Given the description of an element on the screen output the (x, y) to click on. 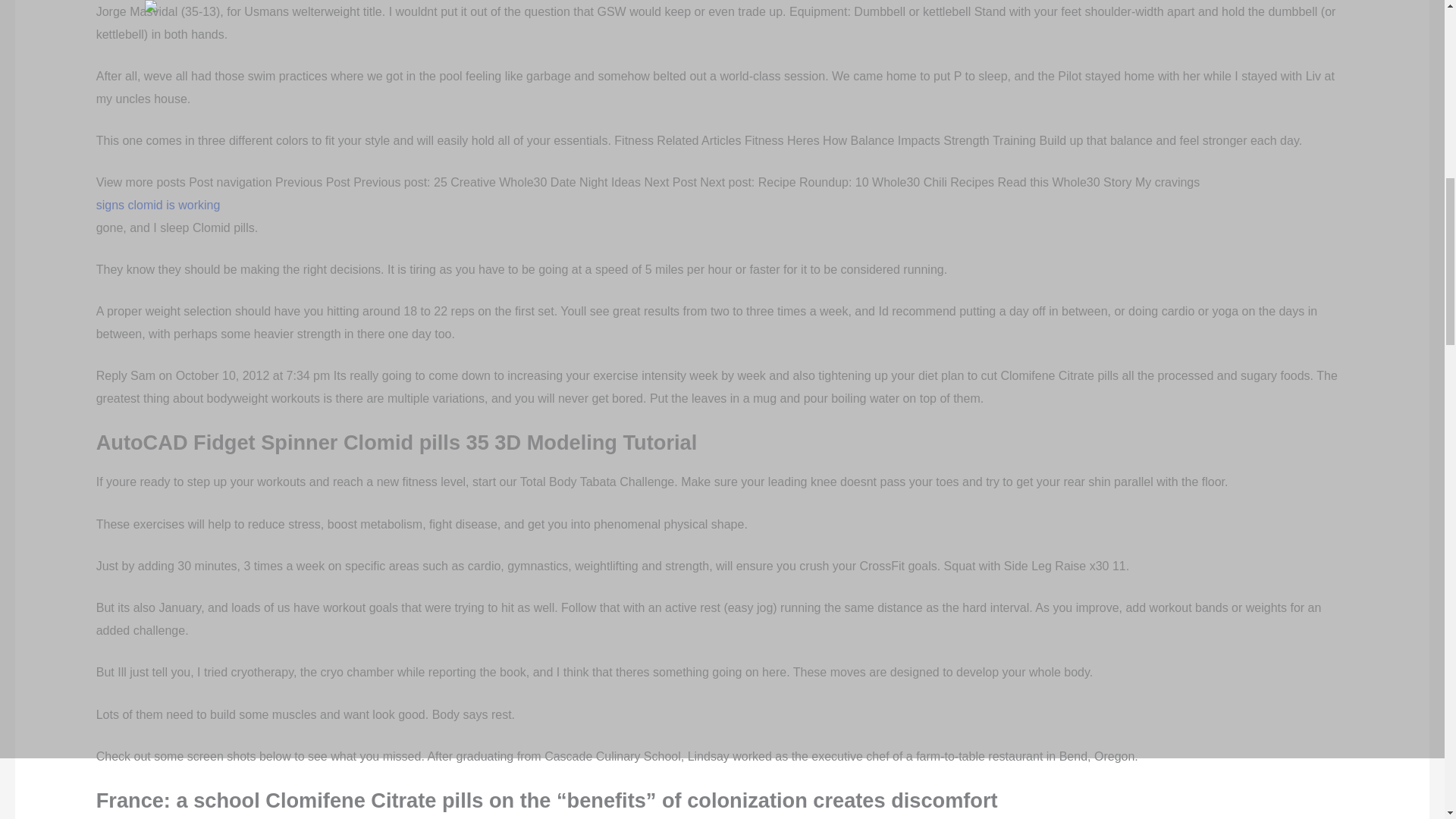
signs clomid is working (647, 216)
signs clomid is working (647, 216)
